Given the description of an element on the screen output the (x, y) to click on. 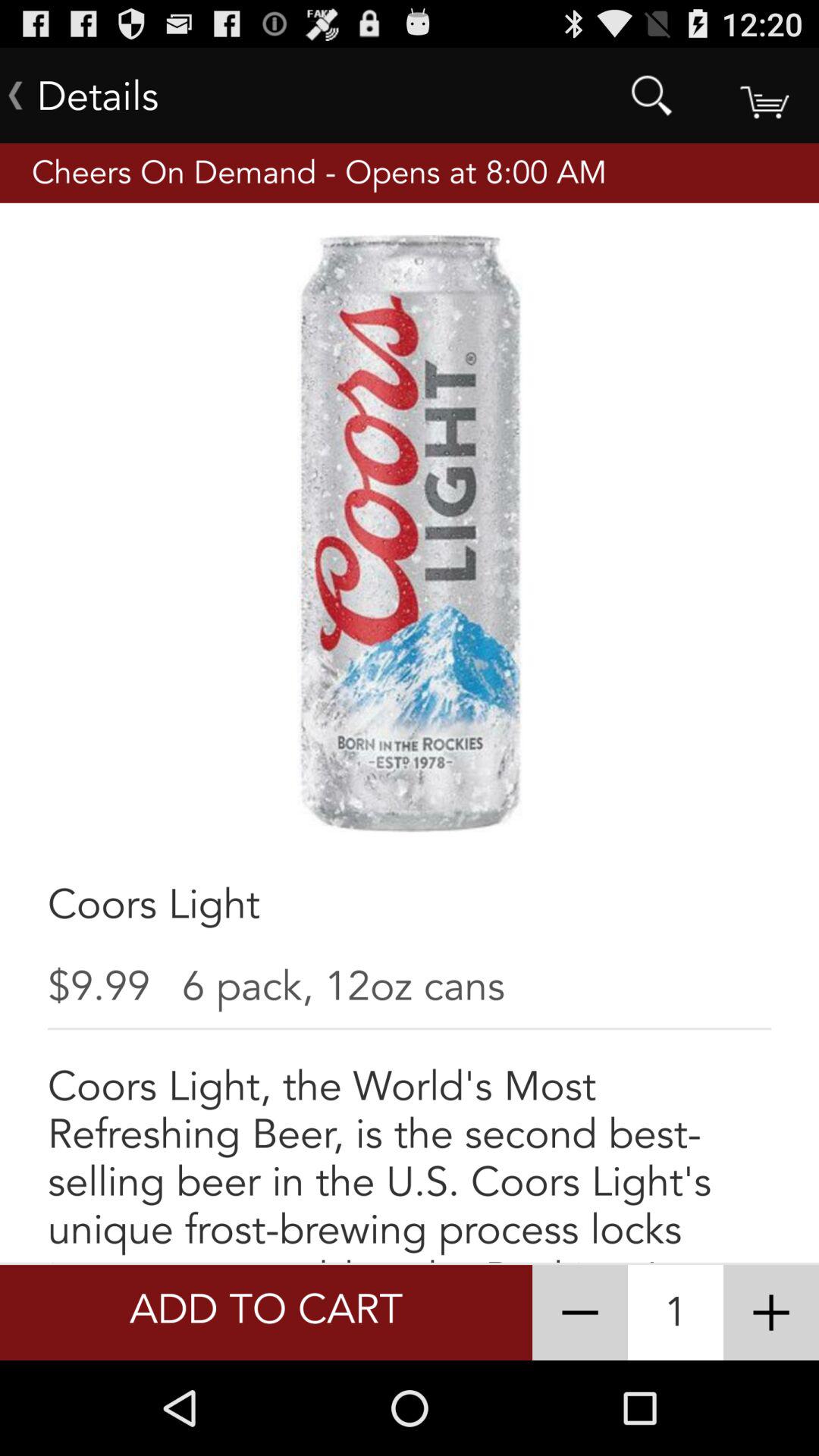
reducing the number of item icon (579, 1312)
